Given the description of an element on the screen output the (x, y) to click on. 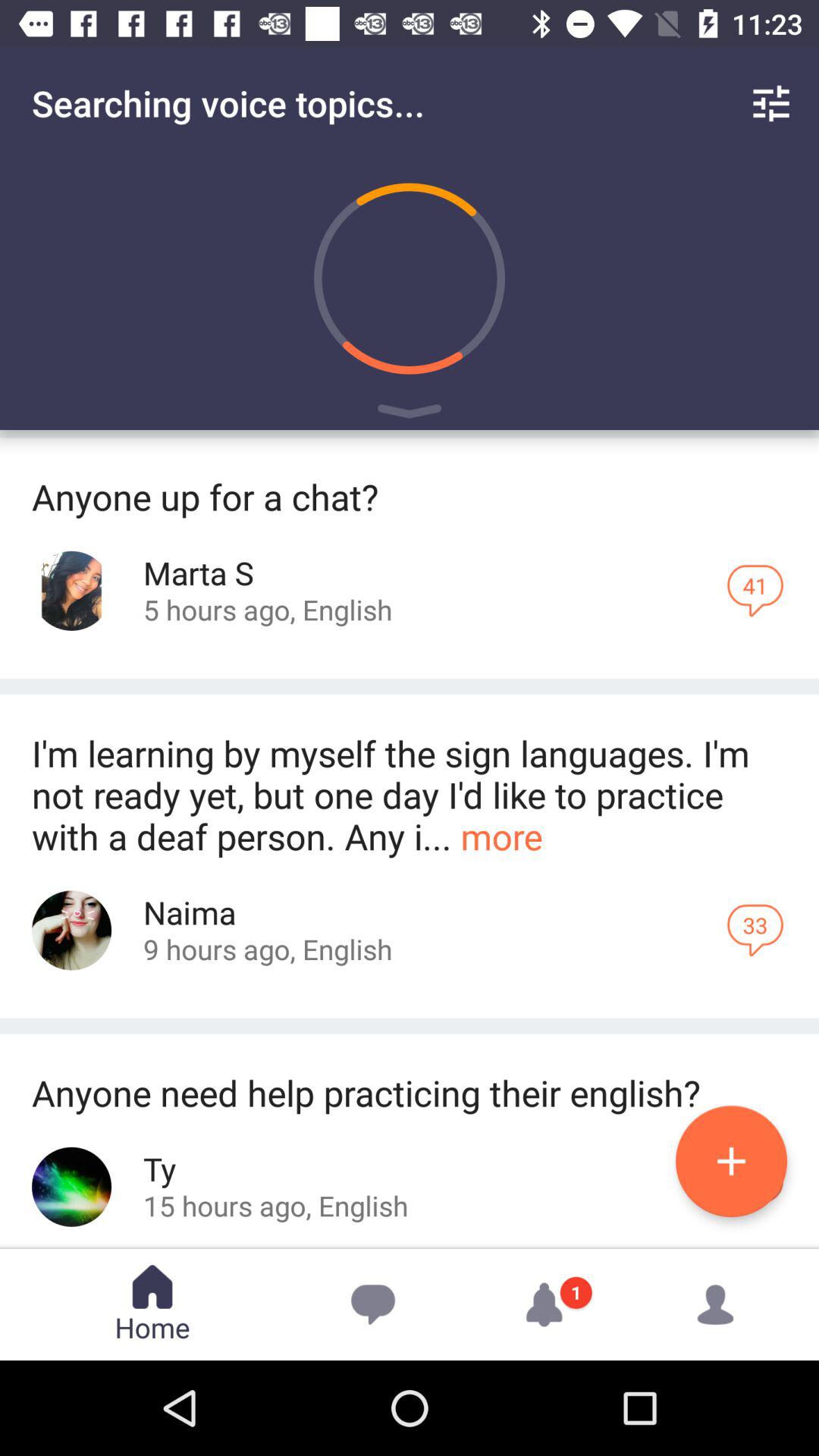
add message (731, 1161)
